Given the description of an element on the screen output the (x, y) to click on. 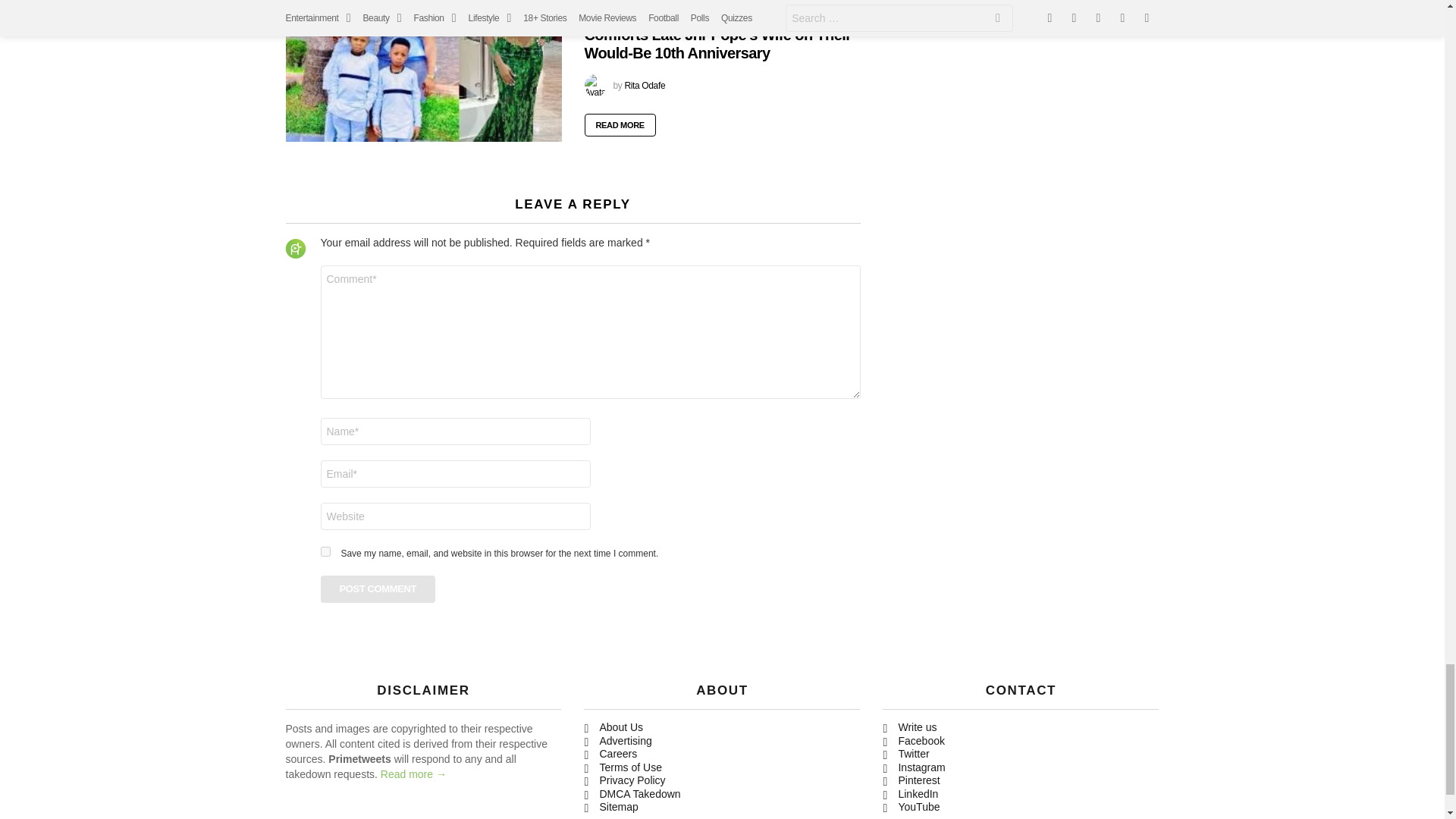
Post Comment (377, 588)
yes (325, 551)
